Given the description of an element on the screen output the (x, y) to click on. 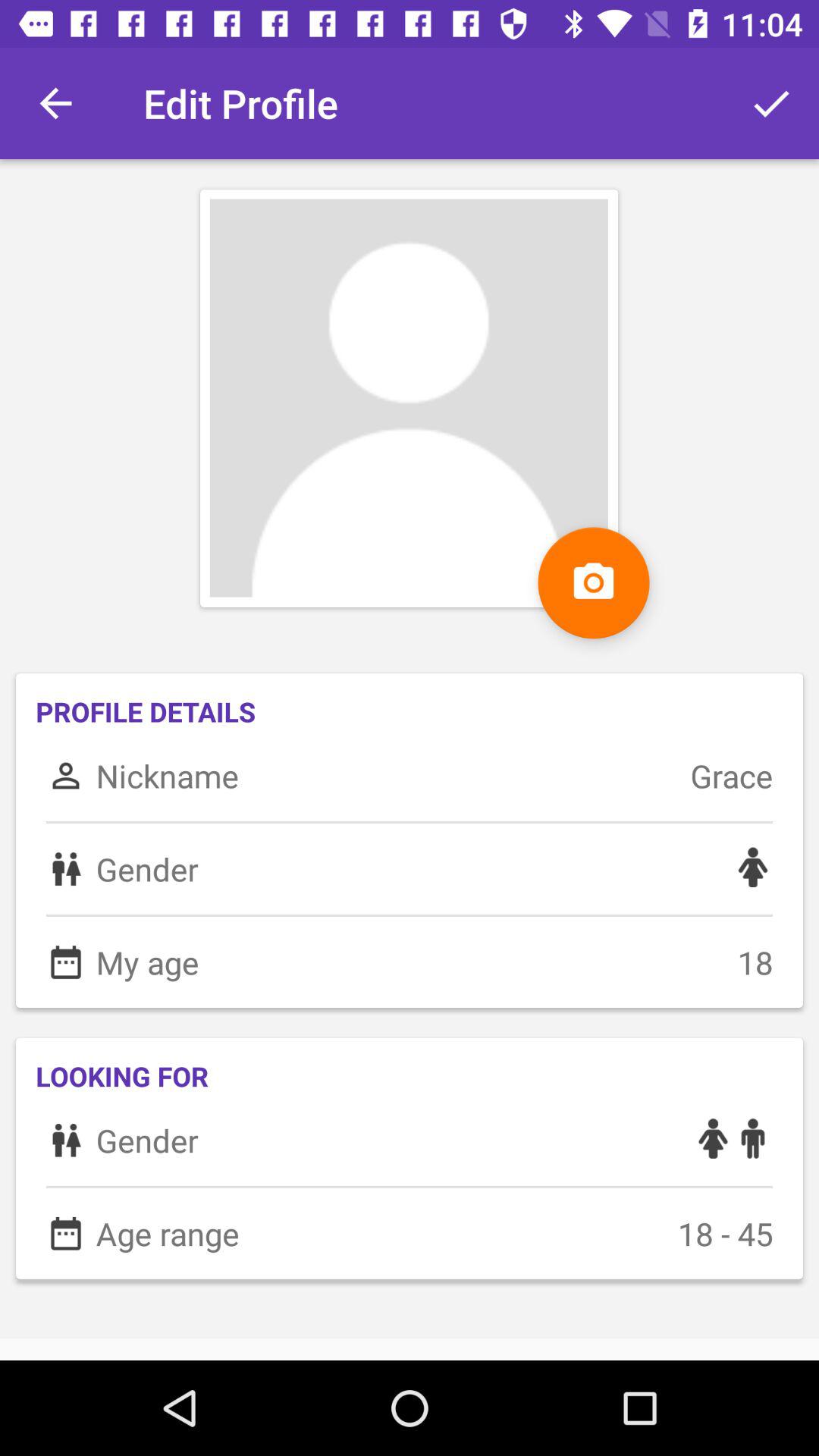
choose item above grace icon (771, 103)
